Given the description of an element on the screen output the (x, y) to click on. 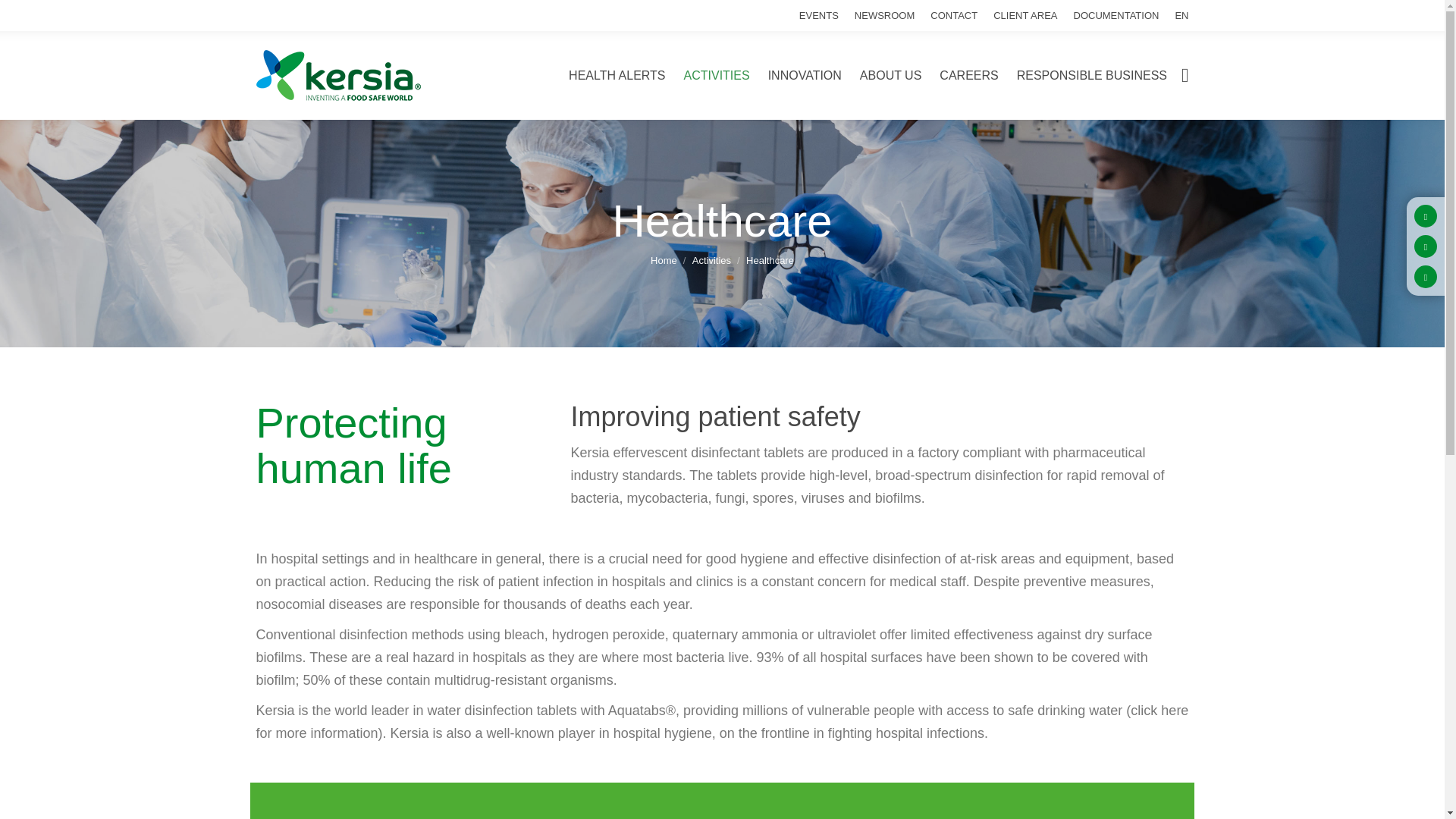
CONTACT (953, 15)
EN (1181, 15)
HEALTH ALERTS (617, 75)
ACTIVITIES (716, 75)
EVENTS (818, 15)
DOCUMENTATION (1116, 15)
CLIENT AREA (1024, 15)
NEWSROOM (884, 15)
EN (1181, 15)
